Given the description of an element on the screen output the (x, y) to click on. 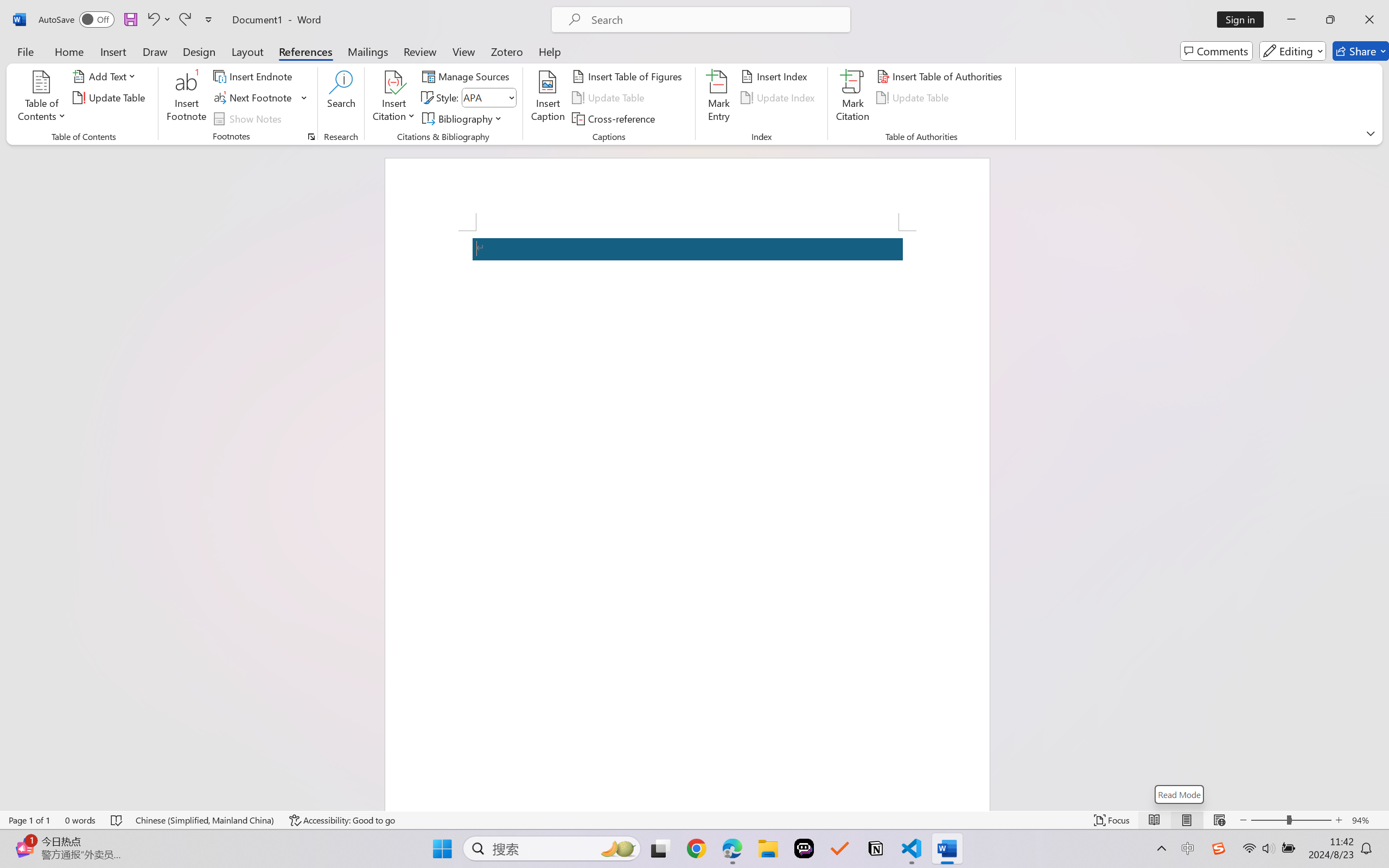
Insert Index... (775, 75)
Cross-reference... (615, 118)
Editing (1292, 50)
Insert Table of Authorities... (941, 75)
Style (483, 96)
